Given the description of an element on the screen output the (x, y) to click on. 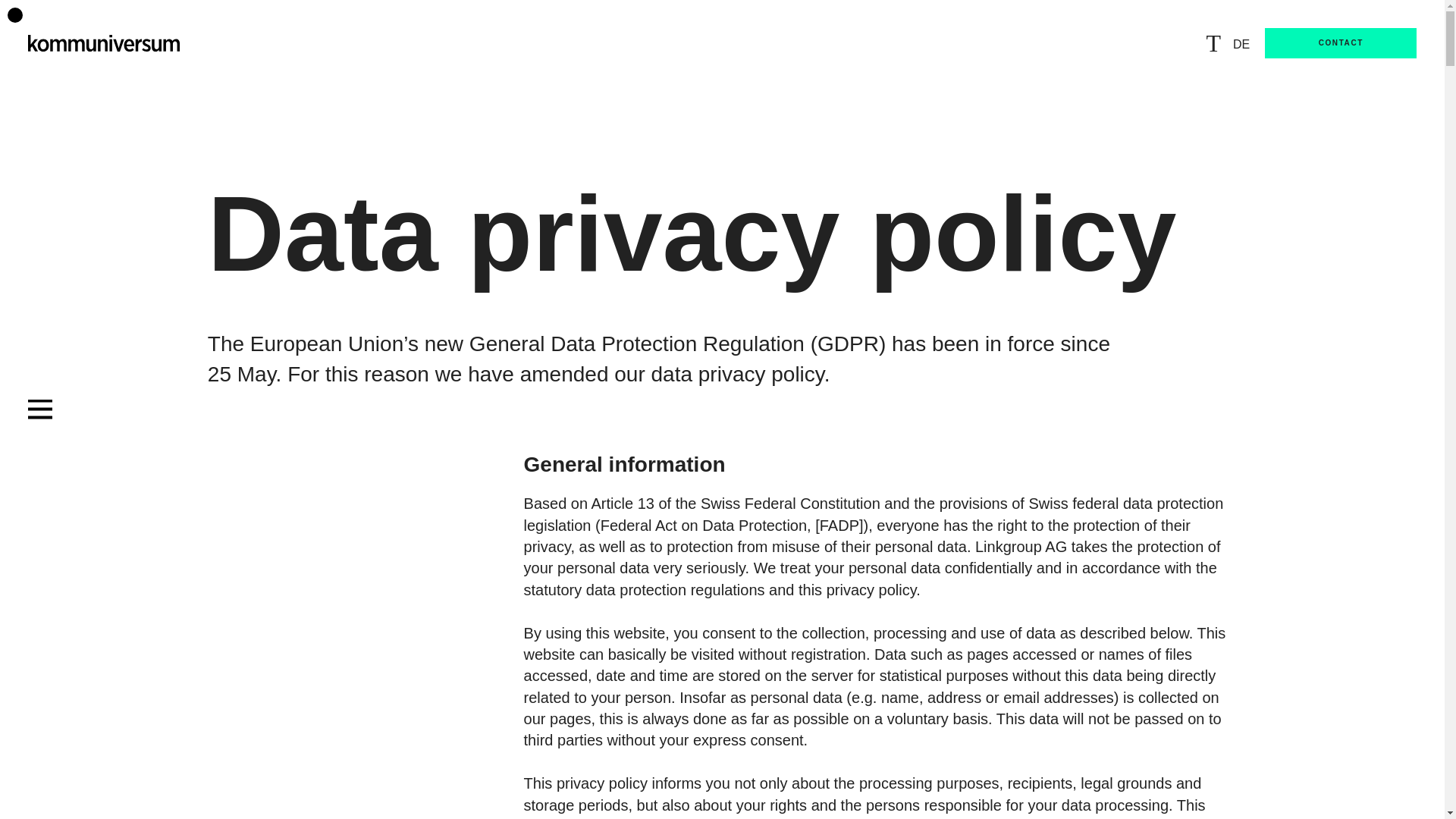
DE (1241, 43)
printlink.ch (1075, 818)
CONTACT (1340, 42)
search (1220, 43)
